Given the description of an element on the screen output the (x, y) to click on. 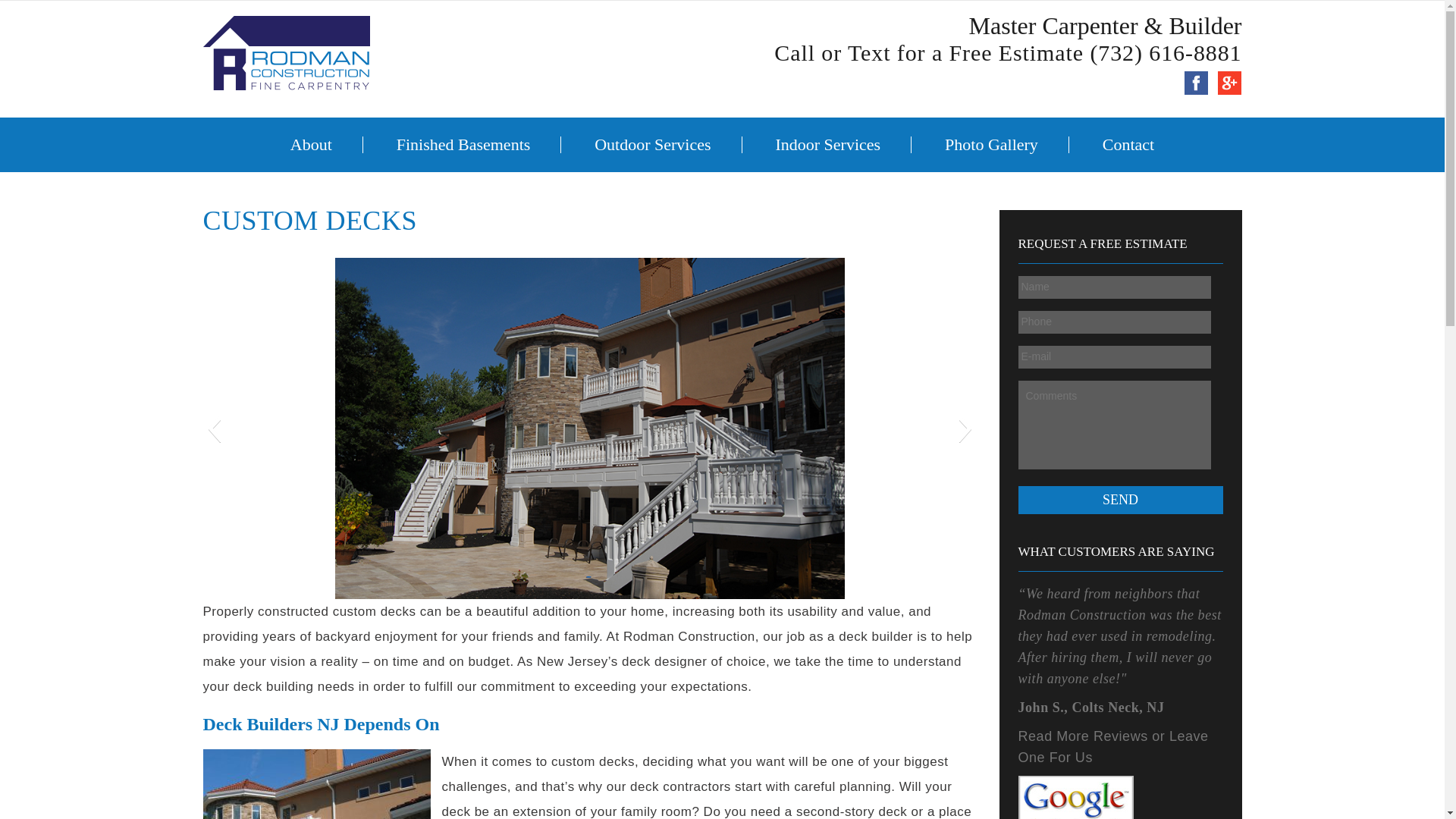
Send (1120, 500)
Photo Gallery (991, 144)
Indoor Services (827, 144)
About (311, 144)
Outdoor Services (652, 144)
Finished Basements (463, 144)
